Given the description of an element on the screen output the (x, y) to click on. 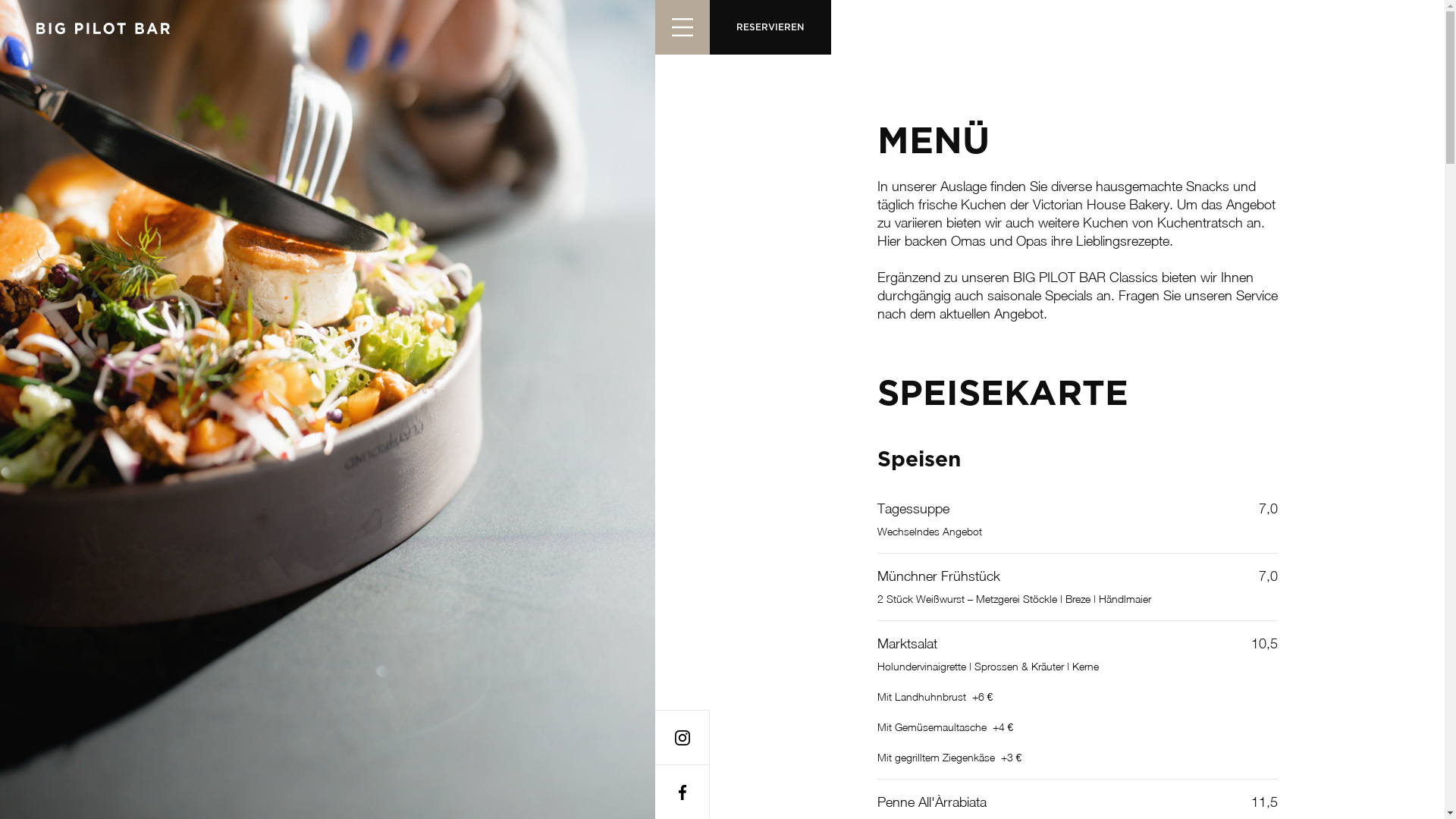
RESERVIEREN Element type: text (770, 27)
